Given the description of an element on the screen output the (x, y) to click on. 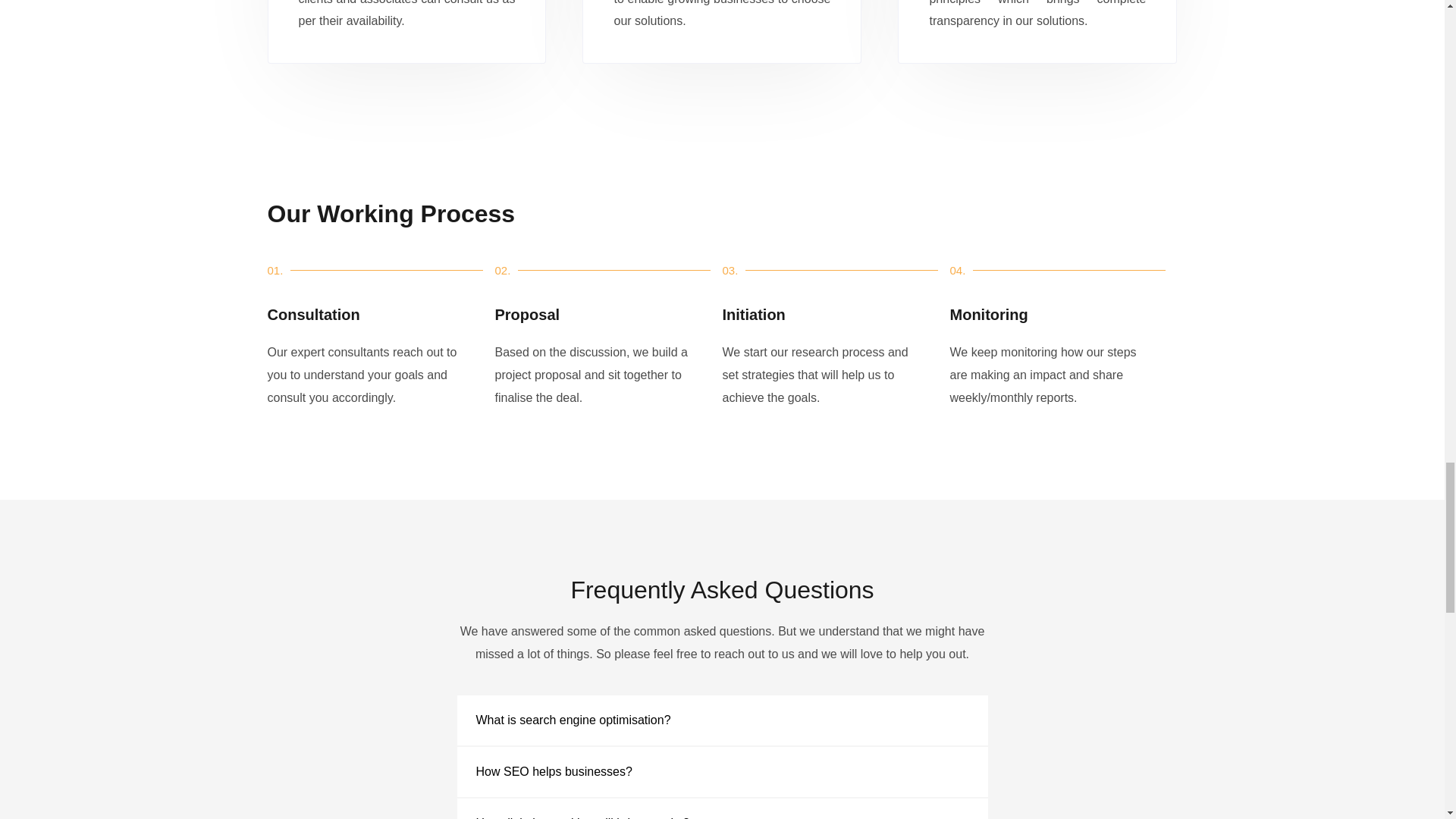
How digital consulting will bring results? (583, 817)
How SEO helps businesses? (553, 771)
What is search engine optimisation? (573, 719)
